Given the description of an element on the screen output the (x, y) to click on. 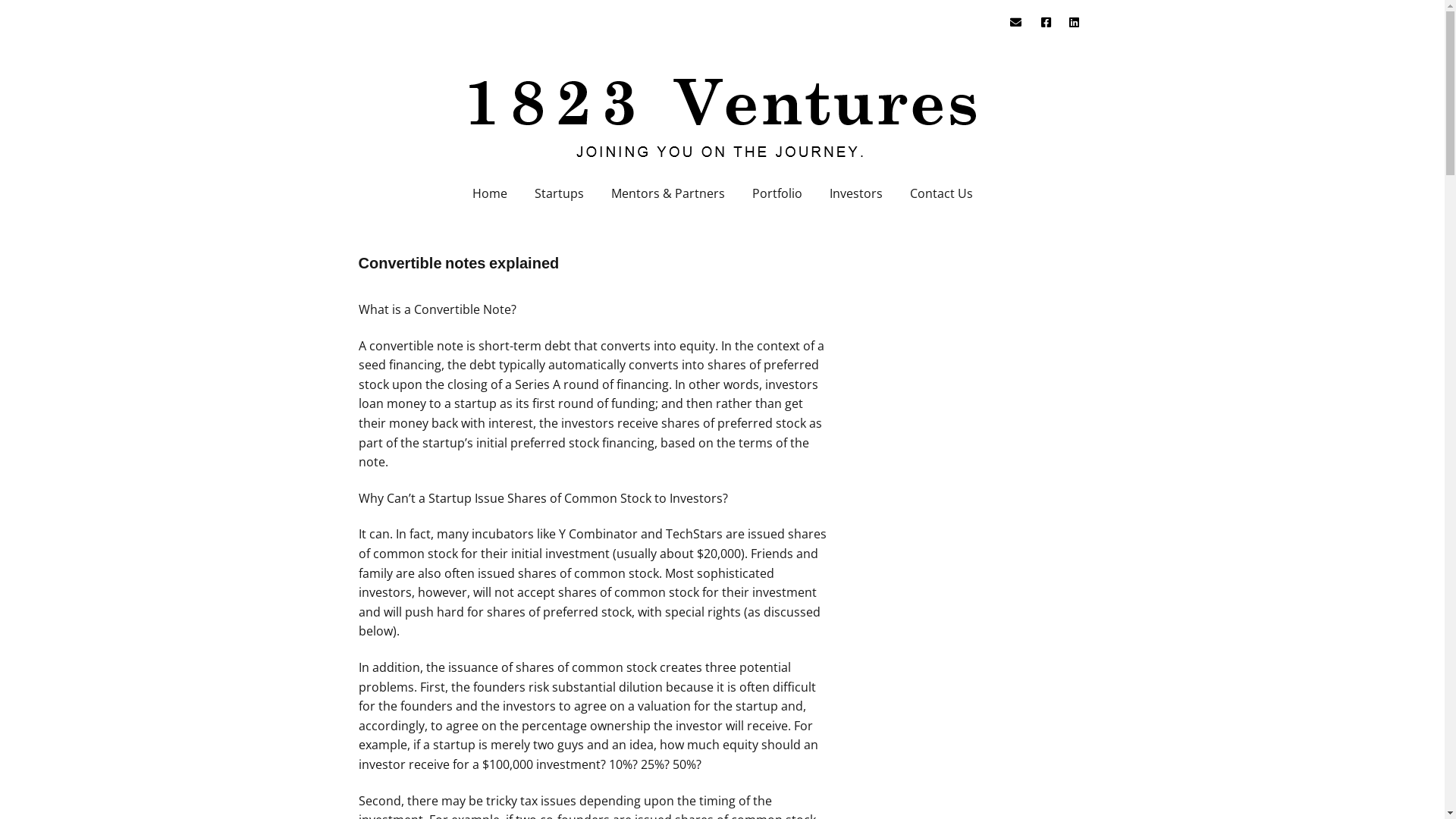
Mentors & Partners Element type: text (668, 192)
Convertible notes explained Element type: text (457, 262)
Investors Element type: text (855, 192)
Contact Us Element type: text (941, 192)
Home Element type: text (488, 192)
Portfolio Element type: text (777, 192)
Startups Element type: text (558, 192)
